Given the description of an element on the screen output the (x, y) to click on. 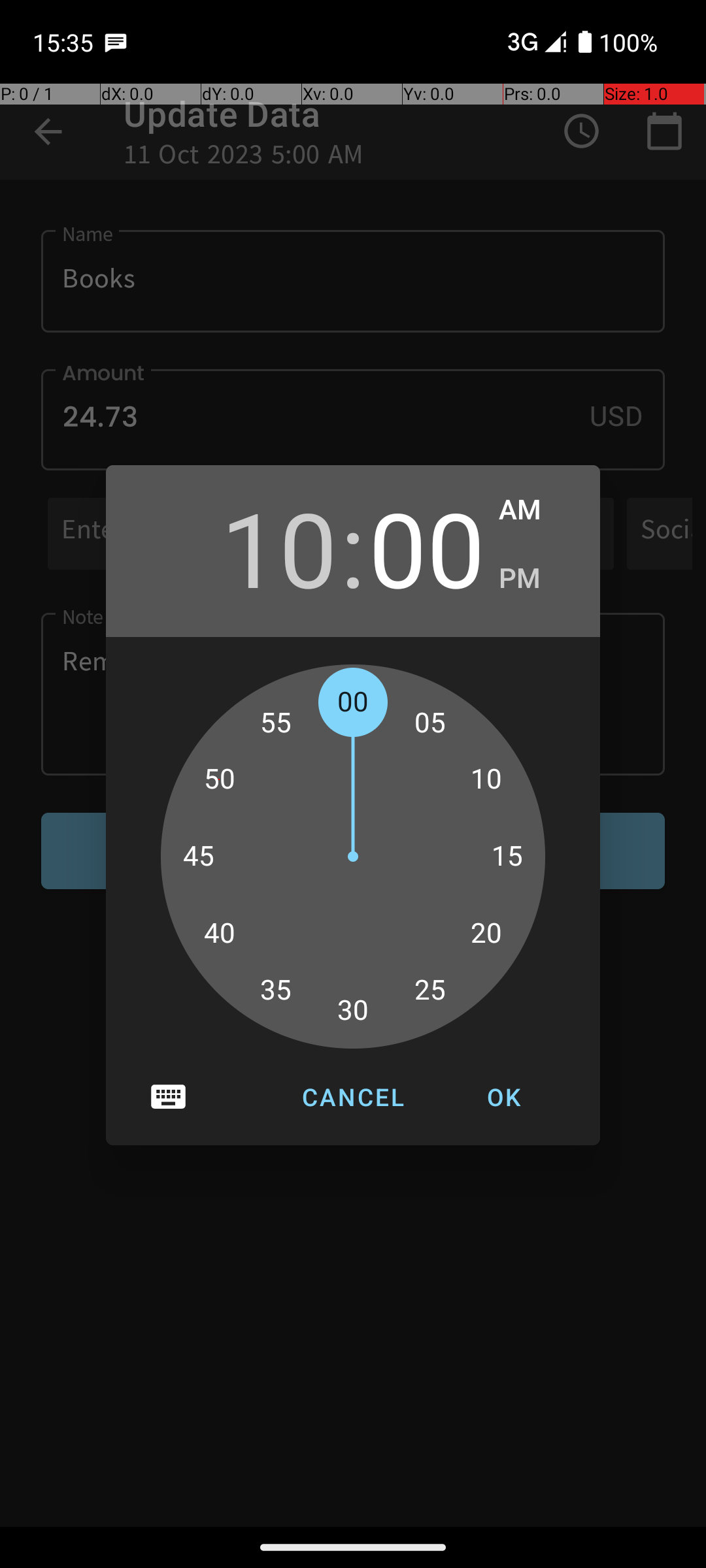
25 Element type: android.widget.RadialTimePickerView$RadialPickerTouchHelper (429, 989)
30 Element type: android.widget.RadialTimePickerView$RadialPickerTouchHelper (352, 1010)
35 Element type: android.widget.RadialTimePickerView$RadialPickerTouchHelper (275, 989)
40 Element type: android.widget.RadialTimePickerView$RadialPickerTouchHelper (218, 933)
45 Element type: android.widget.RadialTimePickerView$RadialPickerTouchHelper (198, 856)
50 Element type: android.widget.RadialTimePickerView$RadialPickerTouchHelper (218, 779)
55 Element type: android.widget.RadialTimePickerView$RadialPickerTouchHelper (275, 722)
CANCEL Element type: android.widget.Button (352, 1096)
AM Element type: android.widget.RadioButton (535, 510)
PM Element type: android.widget.RadioButton (535, 578)
15:35 Element type: android.widget.TextView (64, 41)
